Given the description of an element on the screen output the (x, y) to click on. 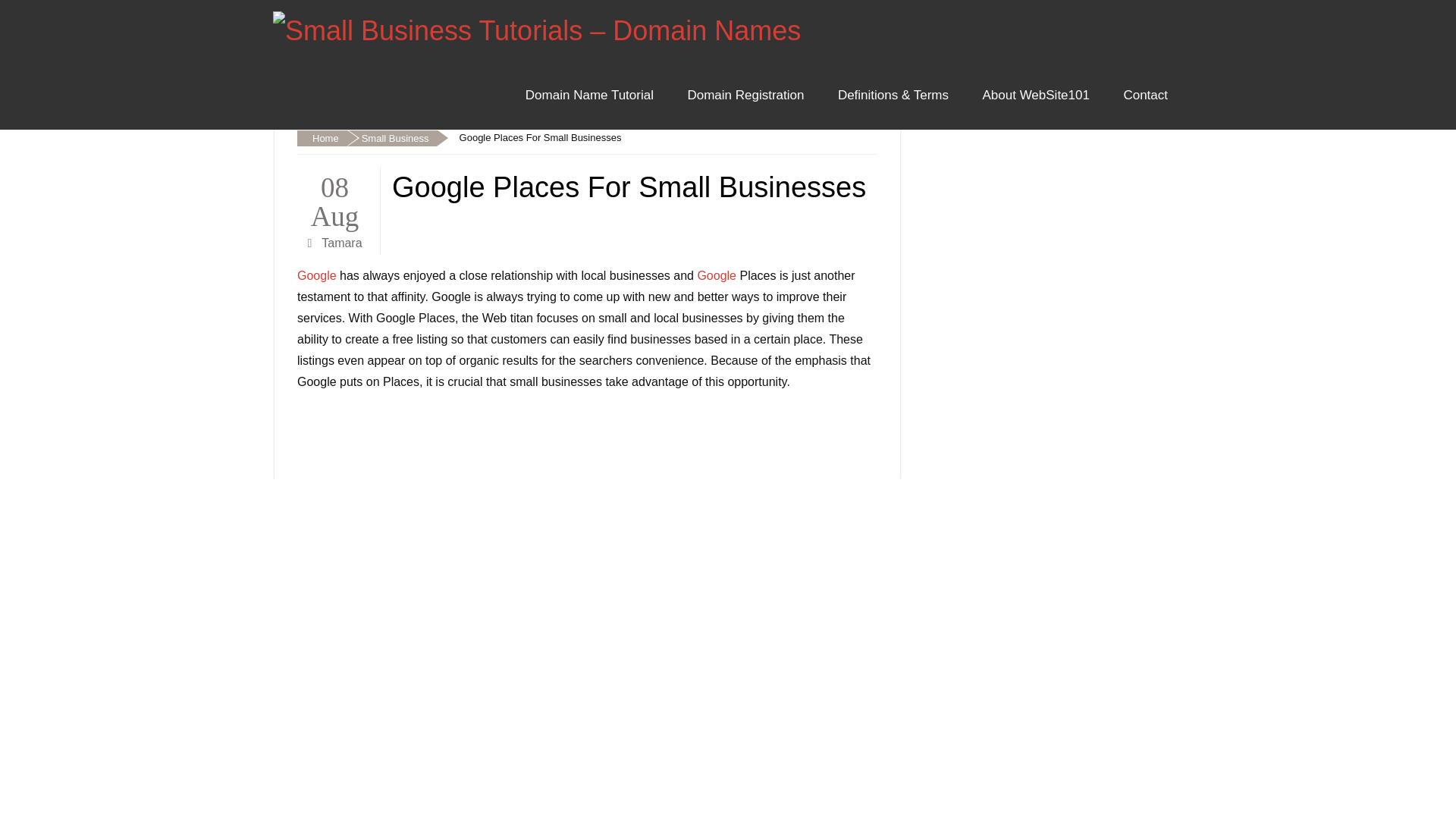
2011-08-08 (334, 198)
Google (716, 275)
Home (321, 138)
Domain Name Tutorial (589, 95)
About WebSite101 (1034, 95)
Small Business (391, 138)
Contact (1145, 95)
Google (316, 275)
Domain Registration (744, 95)
